Given the description of an element on the screen output the (x, y) to click on. 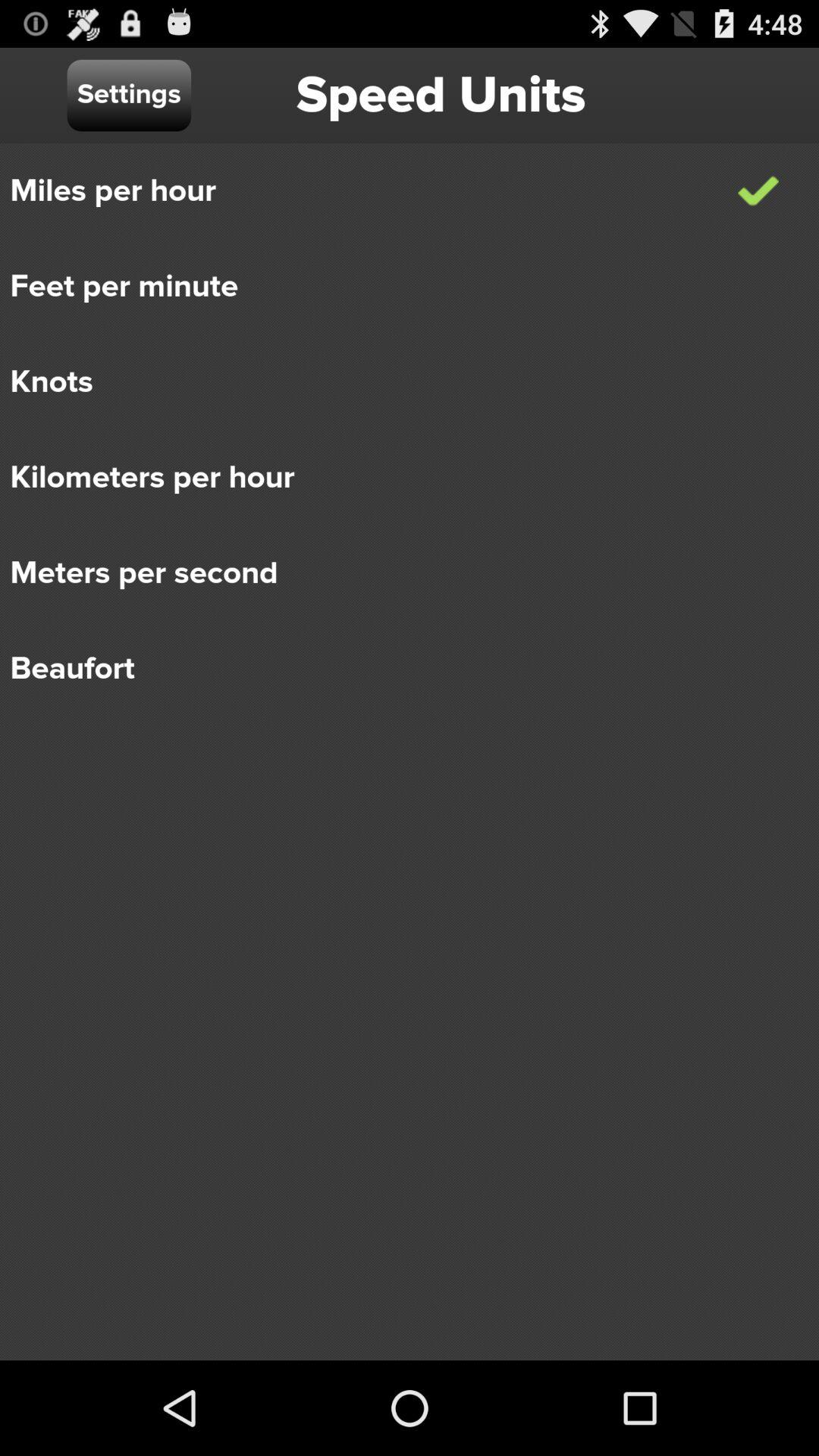
scroll to beaufort icon (399, 668)
